Given the description of an element on the screen output the (x, y) to click on. 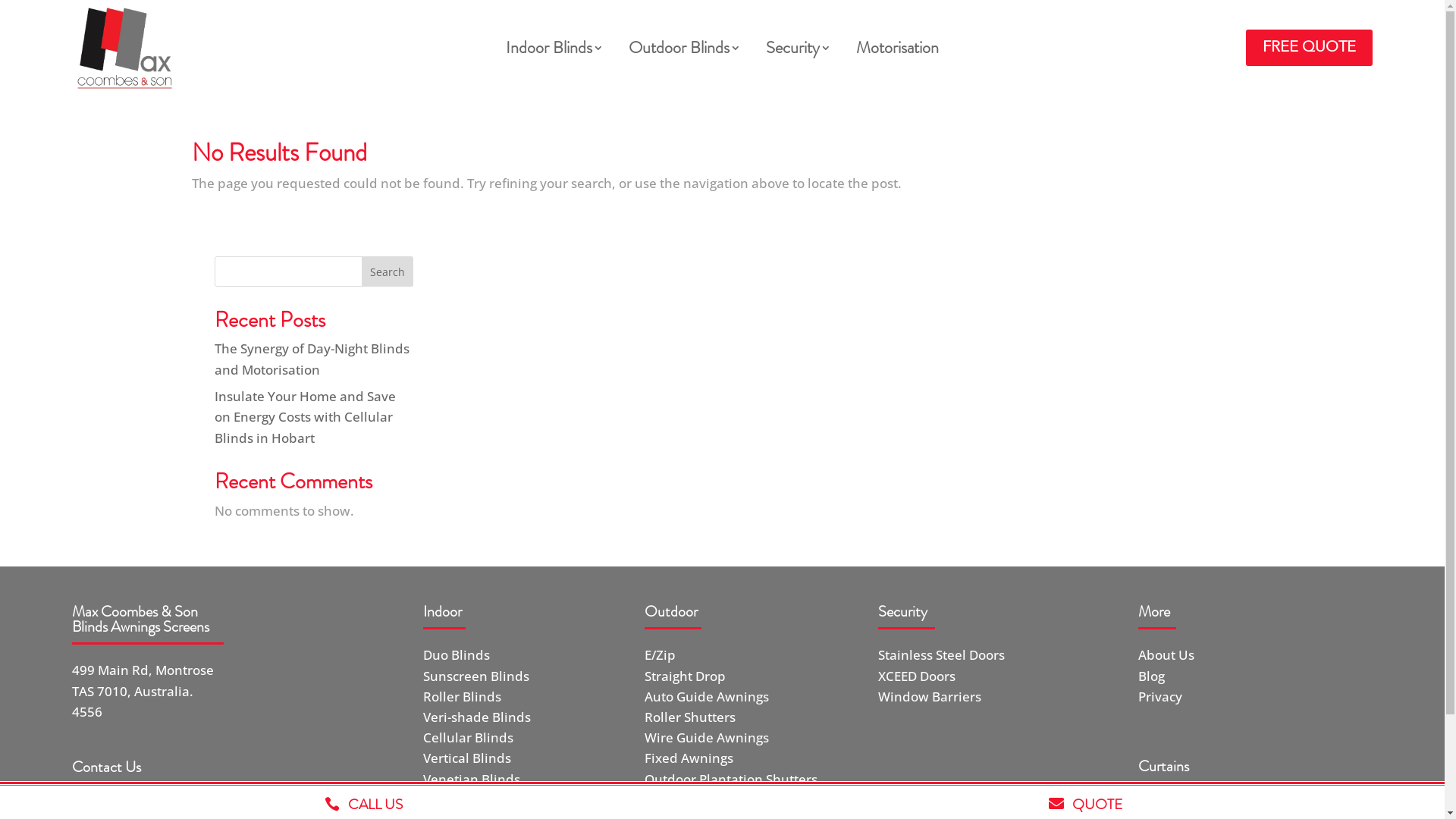
E/Zip Element type: text (659, 654)
Venetian Blinds Element type: text (471, 778)
Blog Element type: text (1151, 675)
Roller Blinds Element type: text (462, 696)
The Synergy of Day-Night Blinds and Motorisation Element type: text (310, 358)
Roman Blinds Element type: text (465, 799)
Straight Drop Element type: text (684, 675)
Outdoor Element type: text (670, 611)
Duo Blinds Element type: text (456, 654)
Sunscreen Blinds Element type: text (476, 675)
Contact Us Element type: text (106, 767)
FREE QUOTE Element type: text (1308, 47)
QUOTE Element type: text (1097, 803)
Vertical Blinds Element type: text (467, 757)
CALL US Element type: text (375, 803)
About Us Element type: text (1166, 654)
Auto Guide Awnings Element type: text (706, 696)
Curtains Element type: text (1163, 766)
Privacy Element type: text (1160, 696)
Security Element type: text (792, 50)
Fixed Awnings Element type: text (688, 757)
Motorisation Element type: text (897, 50)
Cellular Blinds Element type: text (468, 737)
More Element type: text (1154, 611)
Outdoor Blinds Element type: text (678, 50)
Window Barriers Element type: text (929, 696)
Veri-shade Blinds Element type: text (476, 716)
Indoor Element type: text (442, 611)
1300 262 140 Element type: text (159, 792)
Search Element type: text (387, 271)
XCEED Doors Element type: text (916, 675)
Wire Guide Awnings Element type: text (706, 737)
Stainless Steel Doors Element type: text (941, 654)
Outdoor Plantation Shutters Element type: text (730, 778)
Roller Shutters Element type: text (689, 716)
Indoor Blinds Element type: text (548, 50)
Max Coombes Simple Logo Element type: hover (125, 48)
Security Element type: text (902, 611)
